Given the description of an element on the screen output the (x, y) to click on. 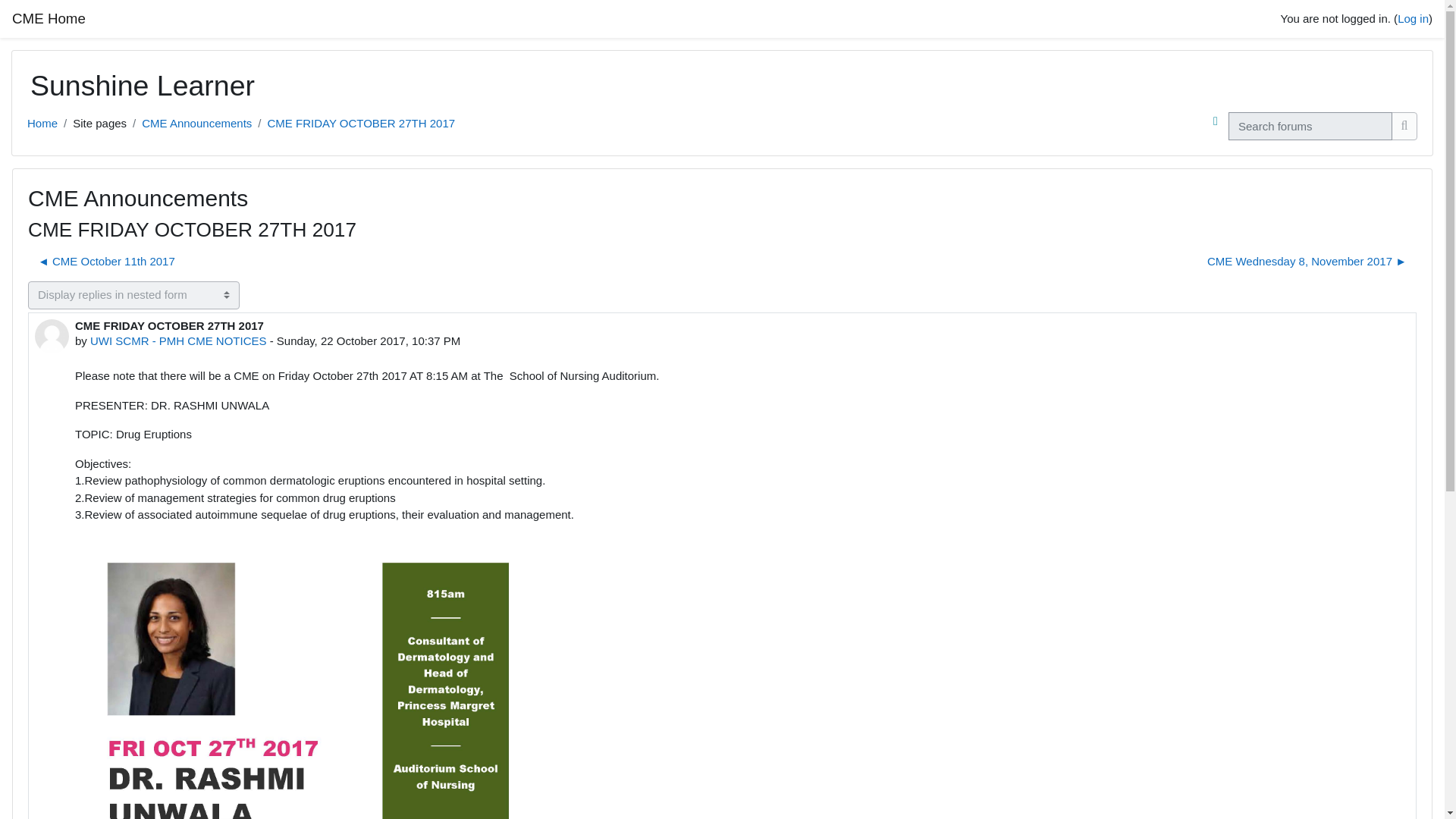
Picture of UWI SCMR - PMH CME NOTICES (51, 335)
Help with Search (1215, 121)
UWI SCMR - PMH CME NOTICES (178, 339)
CME Home (48, 19)
Log in (1412, 18)
CME Announcements (196, 123)
Home (42, 123)
CME FRIDAY OCTOBER 27TH 2017 (360, 123)
Forum (196, 123)
Search forums (1403, 126)
